Given the description of an element on the screen output the (x, y) to click on. 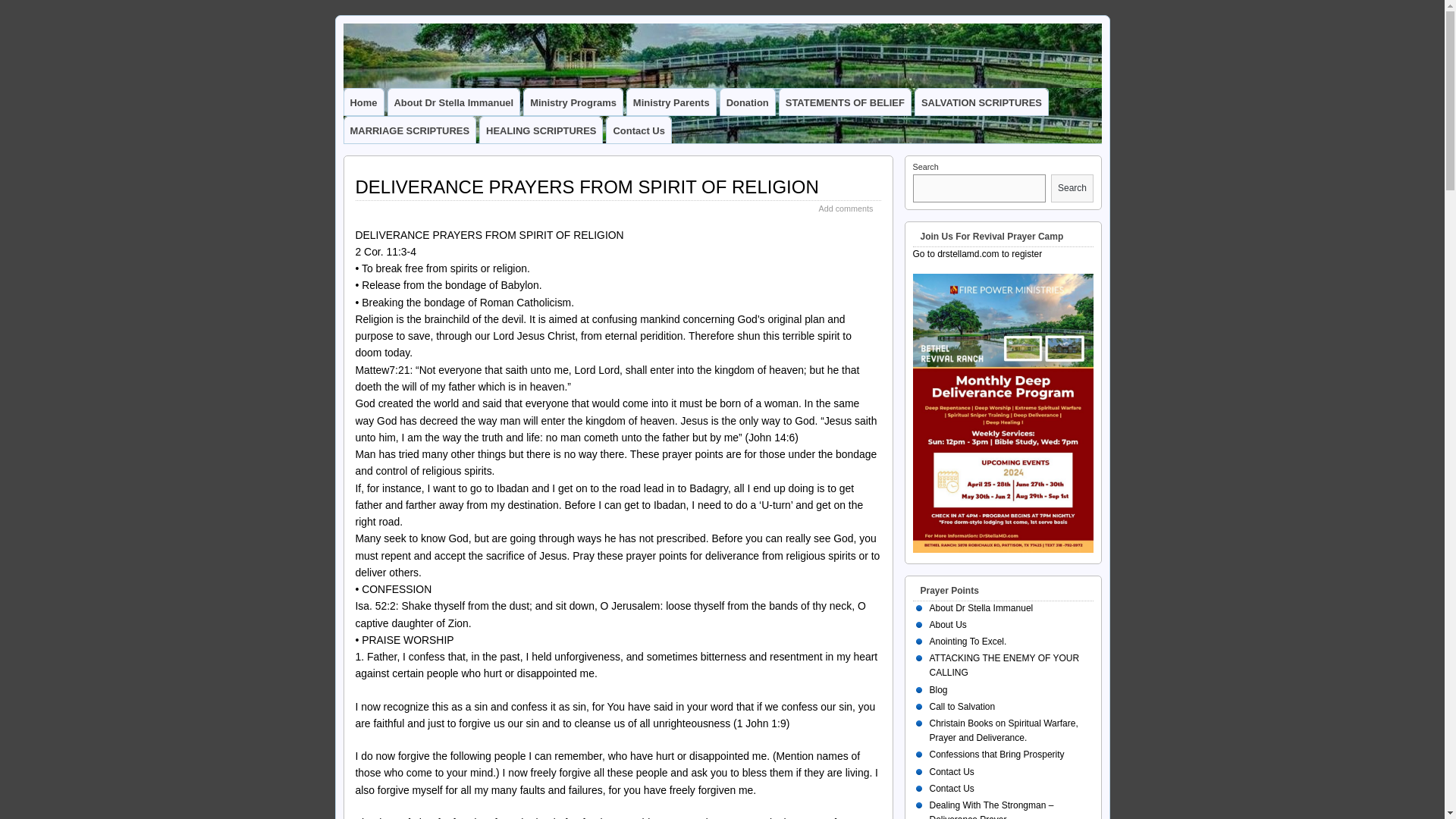
Home (363, 101)
Go to drstellamd.com to register (977, 253)
STATEMENTS OF BELIEF (844, 101)
Blog (938, 689)
Ministry Programs (573, 101)
Ministry Parents (671, 101)
Donation (747, 101)
Add comments (845, 207)
Contact Us (952, 787)
ATTACKING THE ENEMY OF YOUR CALLING (1005, 665)
Contact Us (638, 130)
About Dr Stella Immanuel (981, 607)
MARRIAGE SCRIPTURES (409, 130)
Call to Salvation (962, 706)
HEALING SCRIPTURES (541, 130)
